Given the description of an element on the screen output the (x, y) to click on. 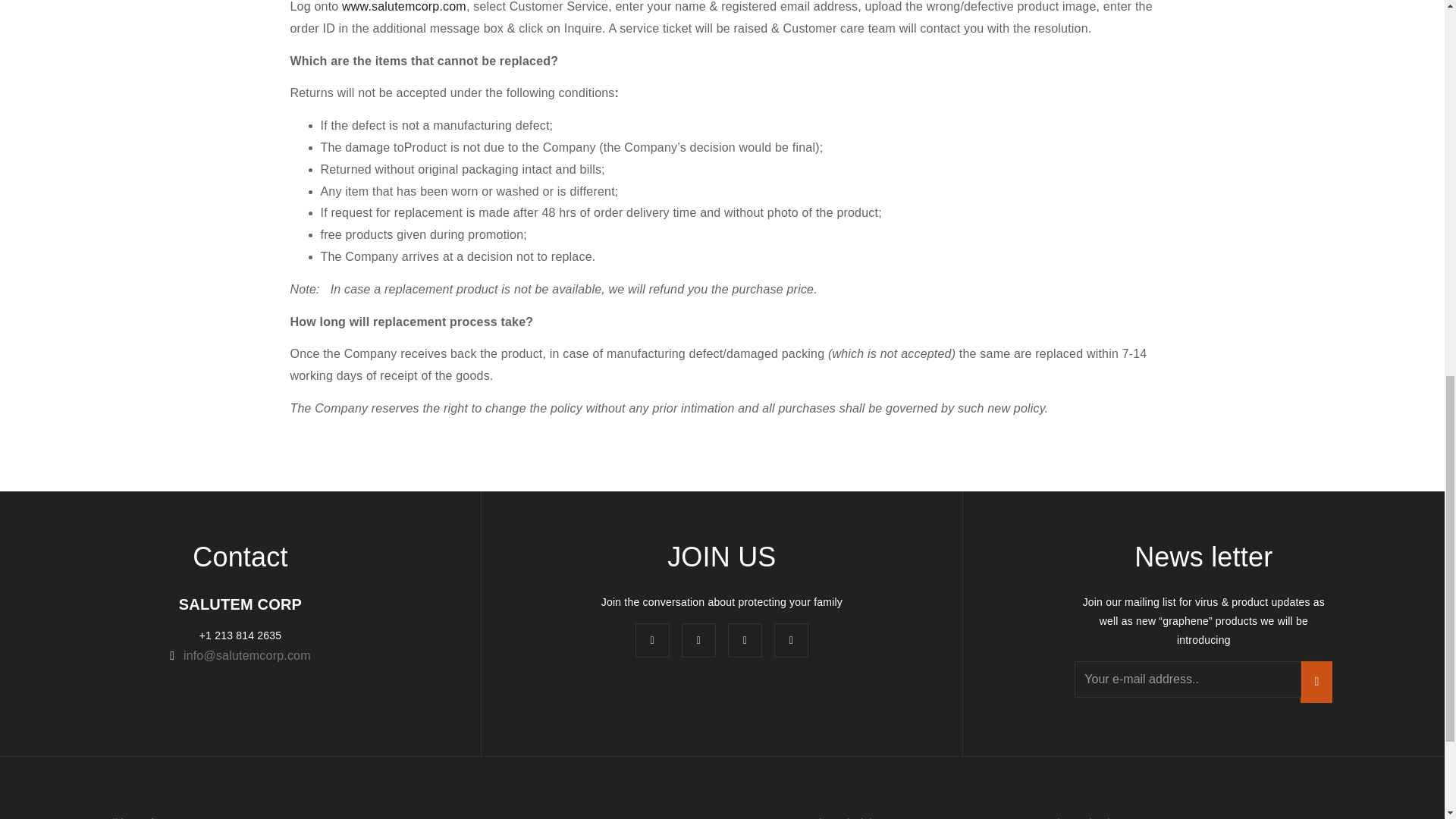
Product Disclaimer (843, 817)
www.salutemcorp.com (403, 6)
facebook (651, 640)
Contact us (355, 817)
FAQ (600, 817)
in (698, 640)
The Technology (1088, 817)
twitter (791, 640)
Instagram (744, 640)
